Given the description of an element on the screen output the (x, y) to click on. 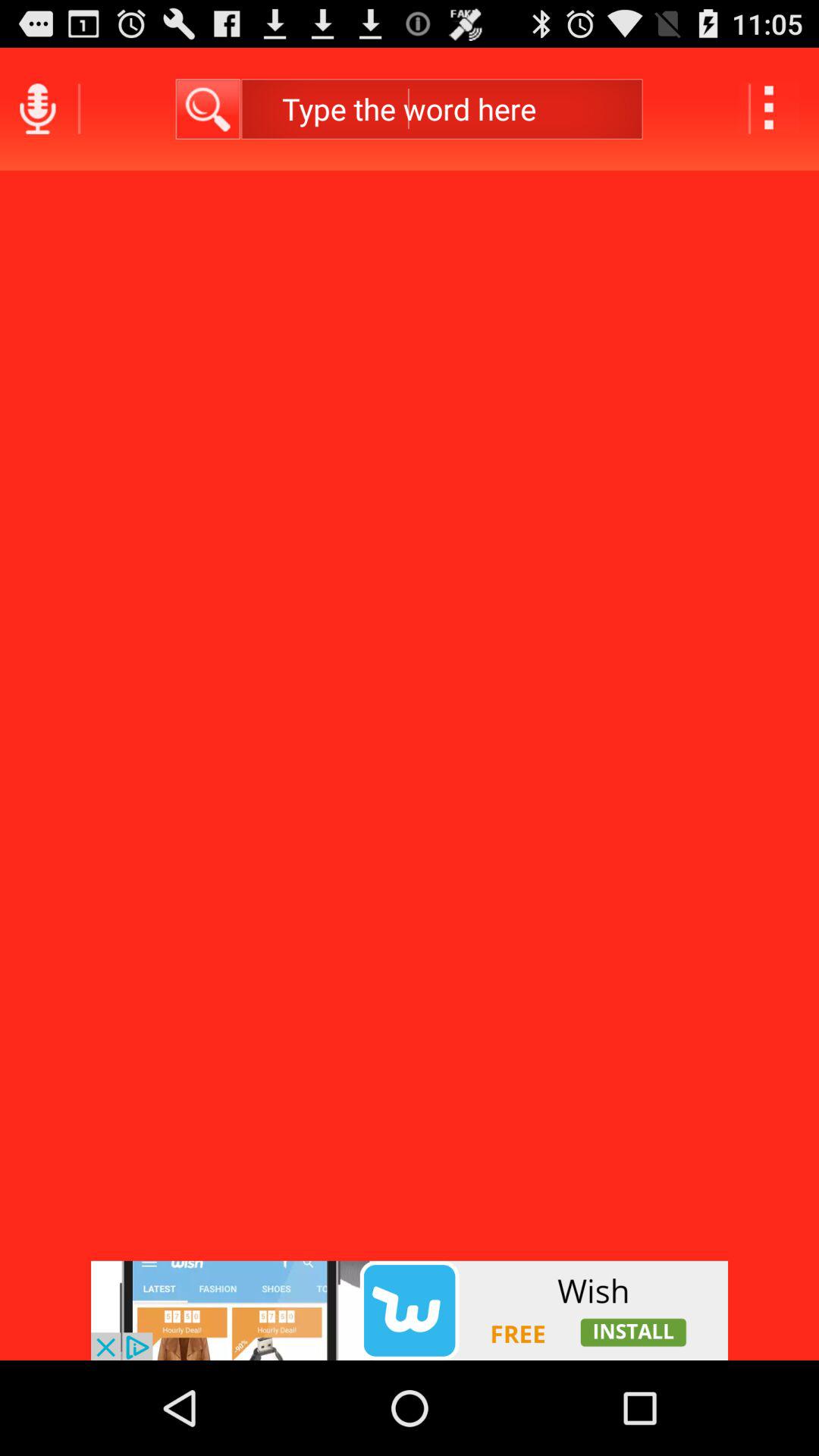
speaker (37, 108)
